Given the description of an element on the screen output the (x, y) to click on. 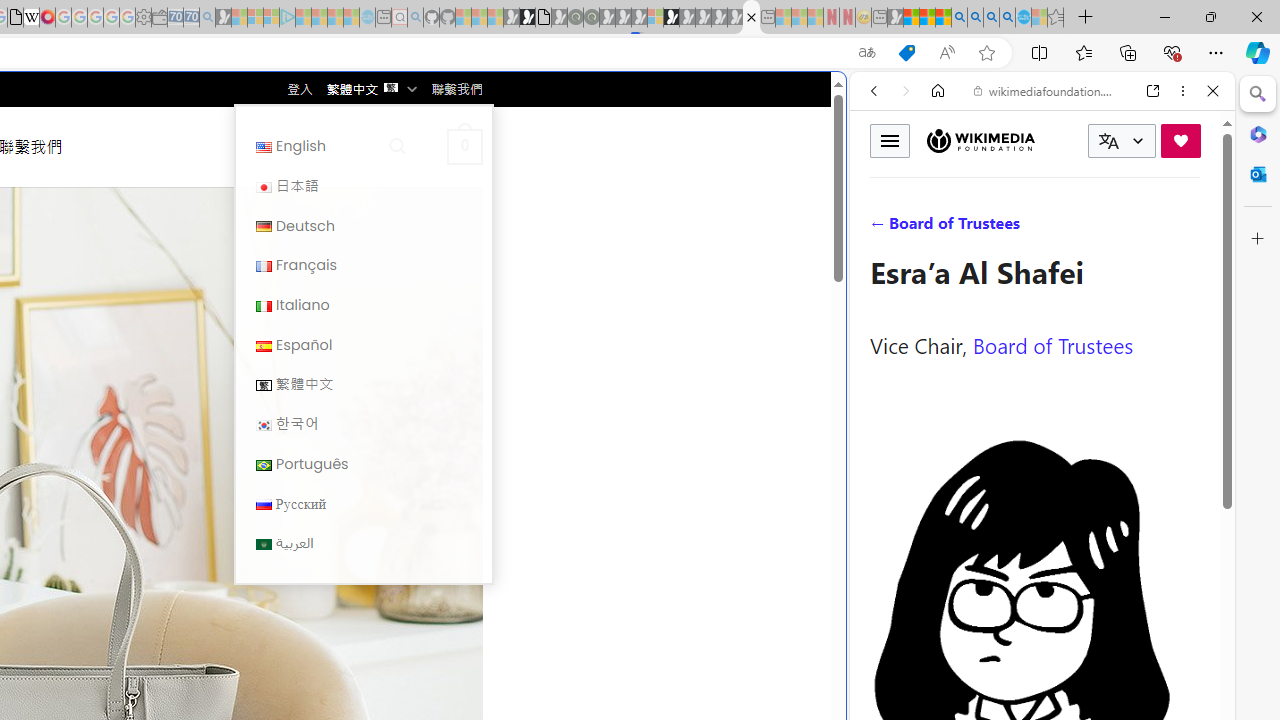
2009 Bing officially replaced Live Search on June 3 - Search (975, 17)
Nordace - Pollina Vegan Leather Collection (751, 17)
Bing AI - Search (959, 17)
Wikimedia Foundation (980, 140)
Favorites - Sleeping (1055, 17)
